Given the description of an element on the screen output the (x, y) to click on. 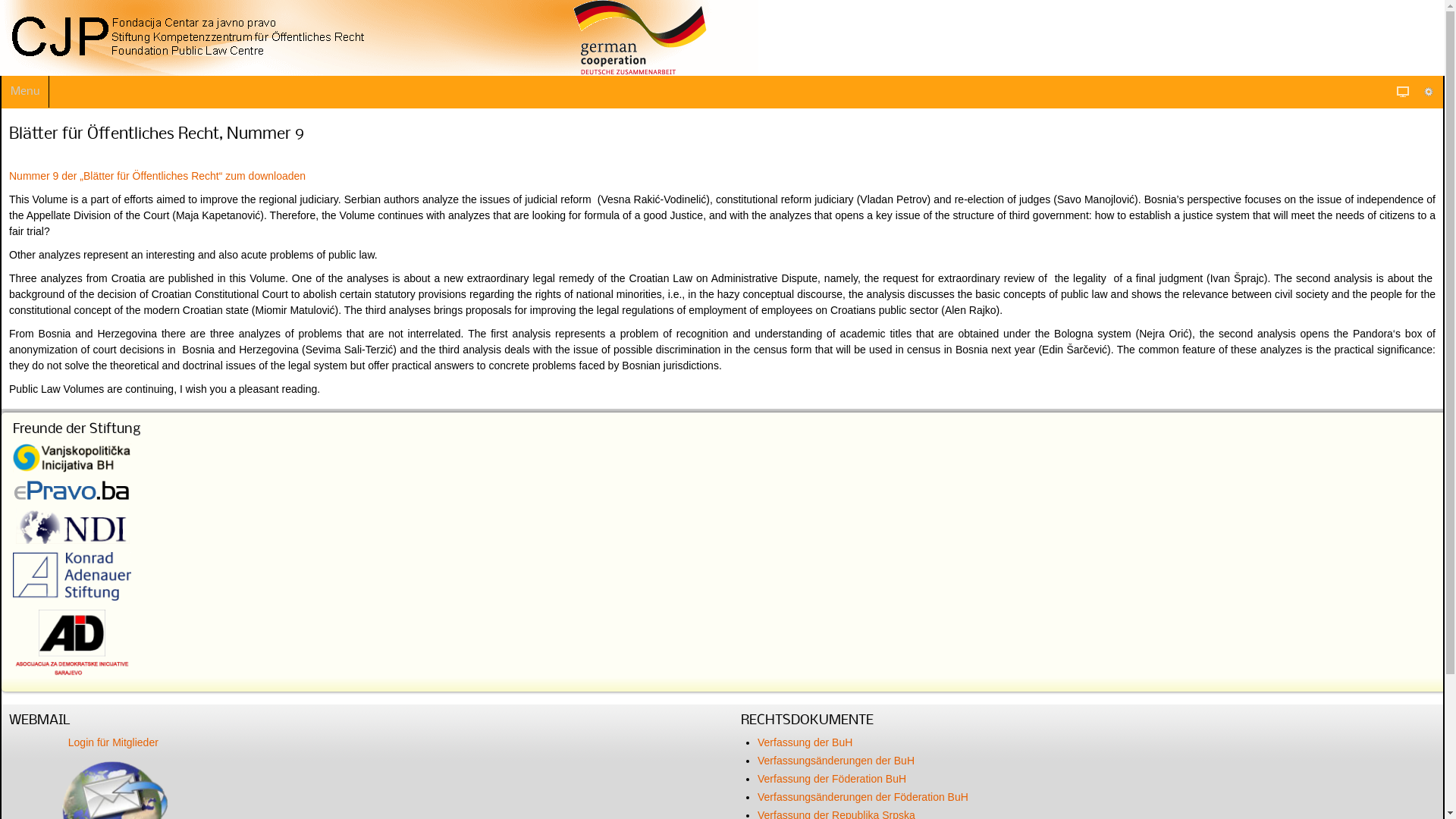
Verfassung der BuH Element type: text (804, 742)
Fondacija Centar za javno pravo (CJP) Element type: hover (379, 37)
